Given the description of an element on the screen output the (x, y) to click on. 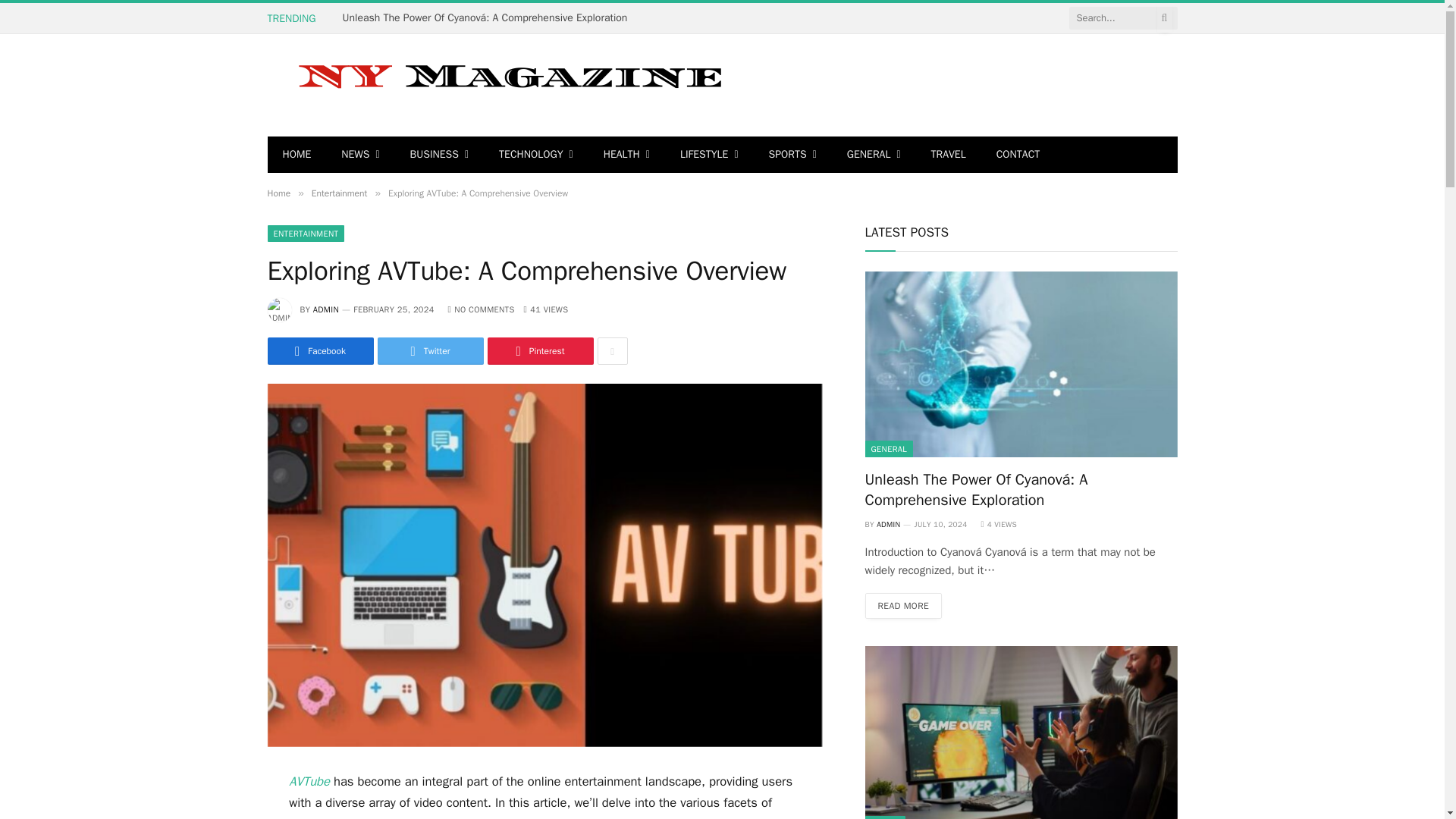
HOME (296, 154)
Ny Magazine (505, 84)
NEWS (360, 154)
